Given the description of an element on the screen output the (x, y) to click on. 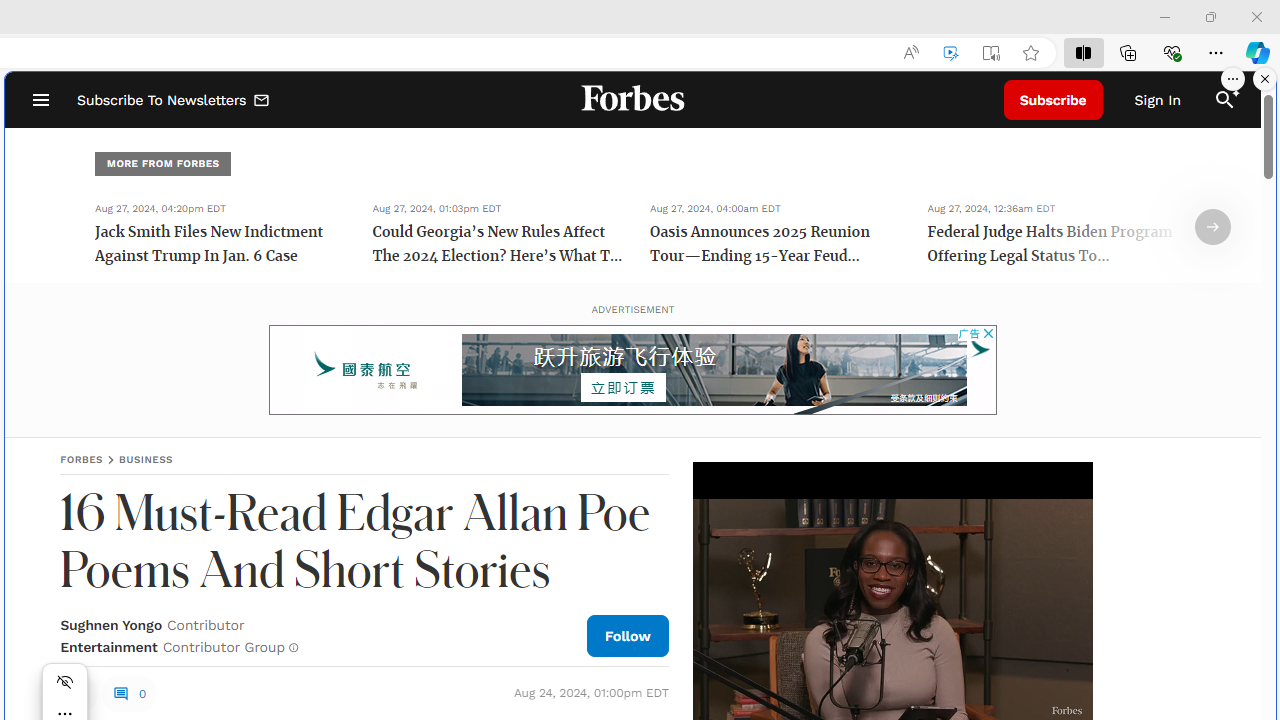
Follow Author (627, 635)
Subscribe To Newsletters (173, 99)
Enter Immersive Reader (F9) (991, 53)
Hide menu (65, 681)
Open Navigation Menu (40, 99)
Enhance video (950, 53)
Jack Smith Files New Indictment Against Trump In Jan. 6 Case (220, 245)
